Given the description of an element on the screen output the (x, y) to click on. 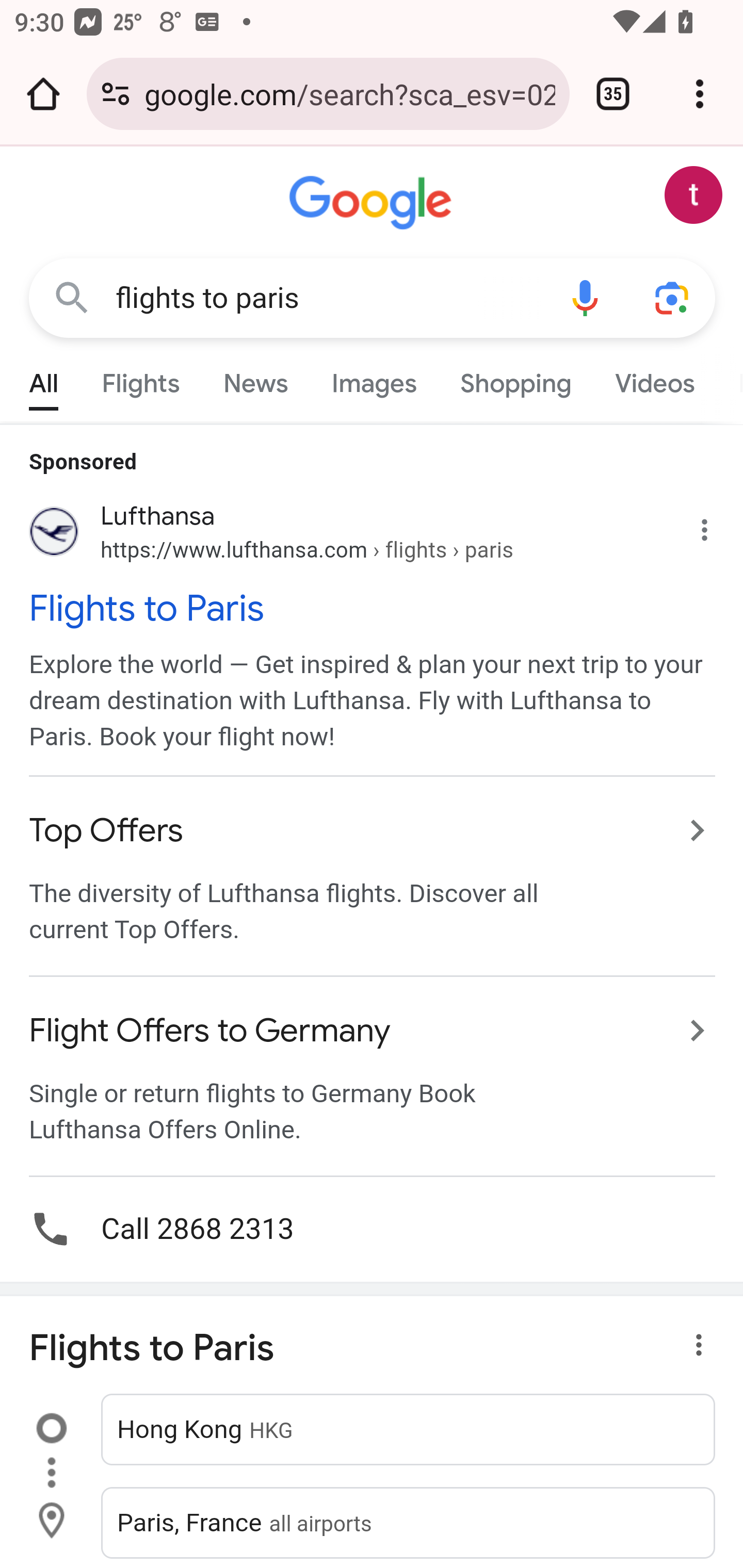
Open the home page (43, 93)
Connection is secure (115, 93)
Switch or close tabs (612, 93)
Customize and control Google Chrome (699, 93)
Google (372, 203)
Google Search (71, 296)
Search using your camera or photos (672, 296)
flights to paris (328, 297)
Flights (140, 378)
News (254, 378)
Images (374, 378)
Shopping (514, 378)
Videos (655, 378)
Why this ad? (714, 525)
Flights to Paris (372, 608)
Call 2868 2313 (371, 1227)
About this result (683, 1353)
Hong Kong, HKG, Enter an origin (408, 1428)
Paris, France, all airports, Enter a destination (408, 1522)
